Given the description of an element on the screen output the (x, y) to click on. 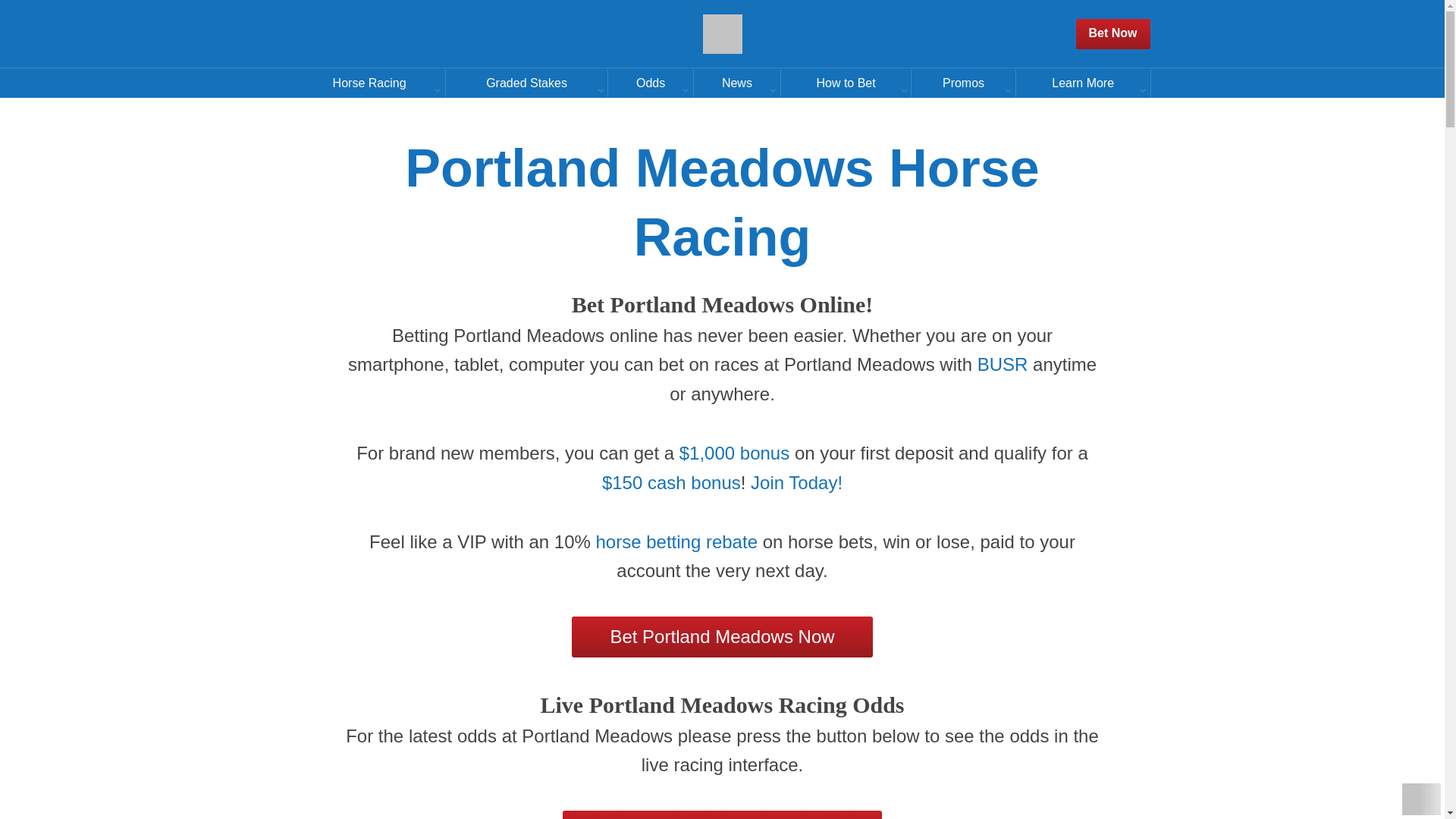
horse betting rebate (676, 541)
Horse Racing (369, 82)
Promos (962, 82)
Learn More (1083, 82)
Join Today! (797, 482)
How to Bet (845, 82)
Scroll Back to Top (1421, 798)
Graded Stakes (526, 82)
BUSR (1001, 363)
Bet Now (1113, 33)
